Given the description of an element on the screen output the (x, y) to click on. 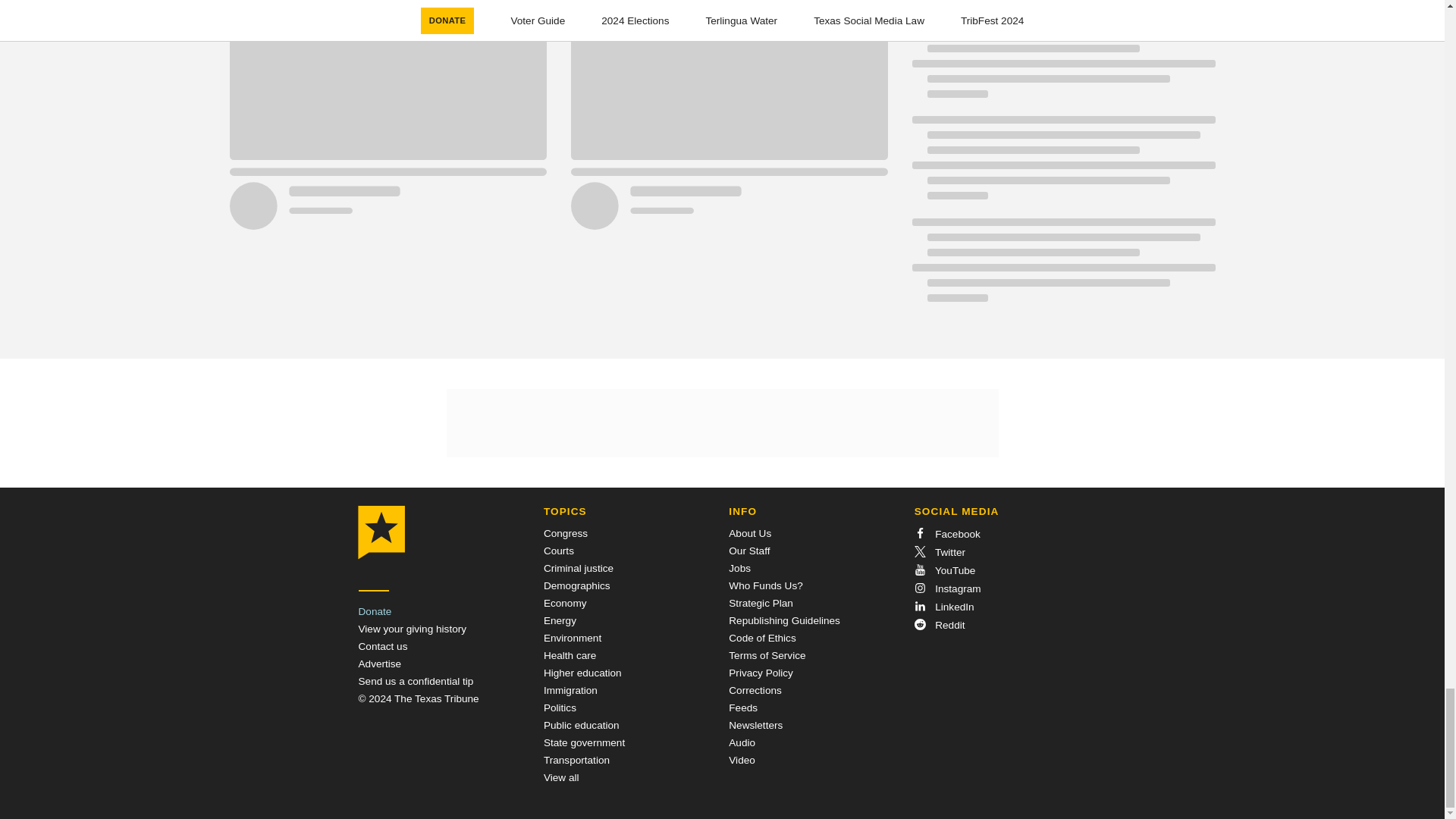
View your giving history (411, 628)
Video (742, 759)
Corrections (755, 690)
Who Funds Us? (765, 585)
Loading indicator (1062, 5)
About Us (750, 532)
Republishing Guidelines (784, 620)
Advertise (379, 663)
Strategic Plan (761, 603)
Feeds (743, 707)
